Given the description of an element on the screen output the (x, y) to click on. 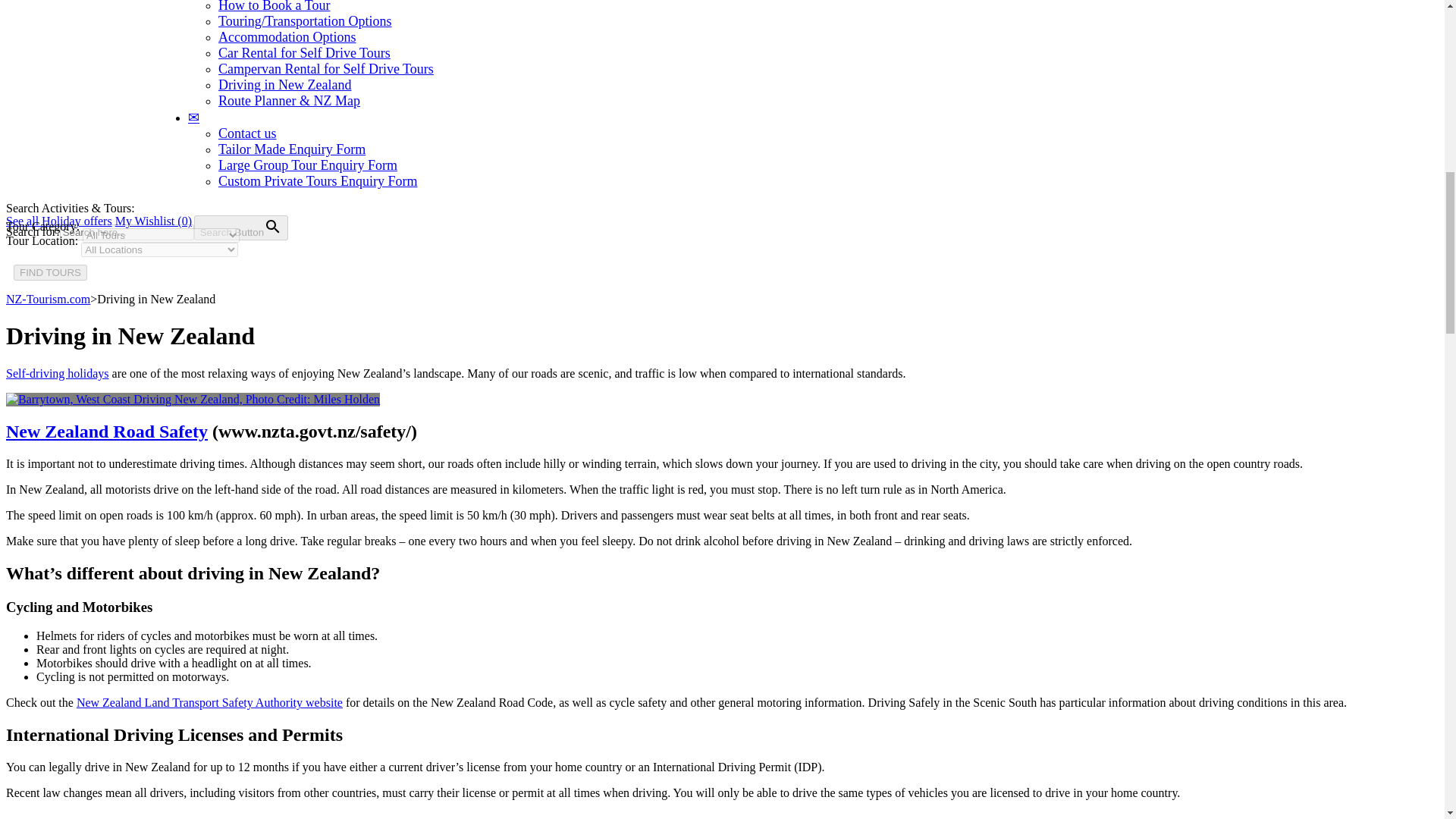
FIND TOURS (50, 272)
